Given the description of an element on the screen output the (x, y) to click on. 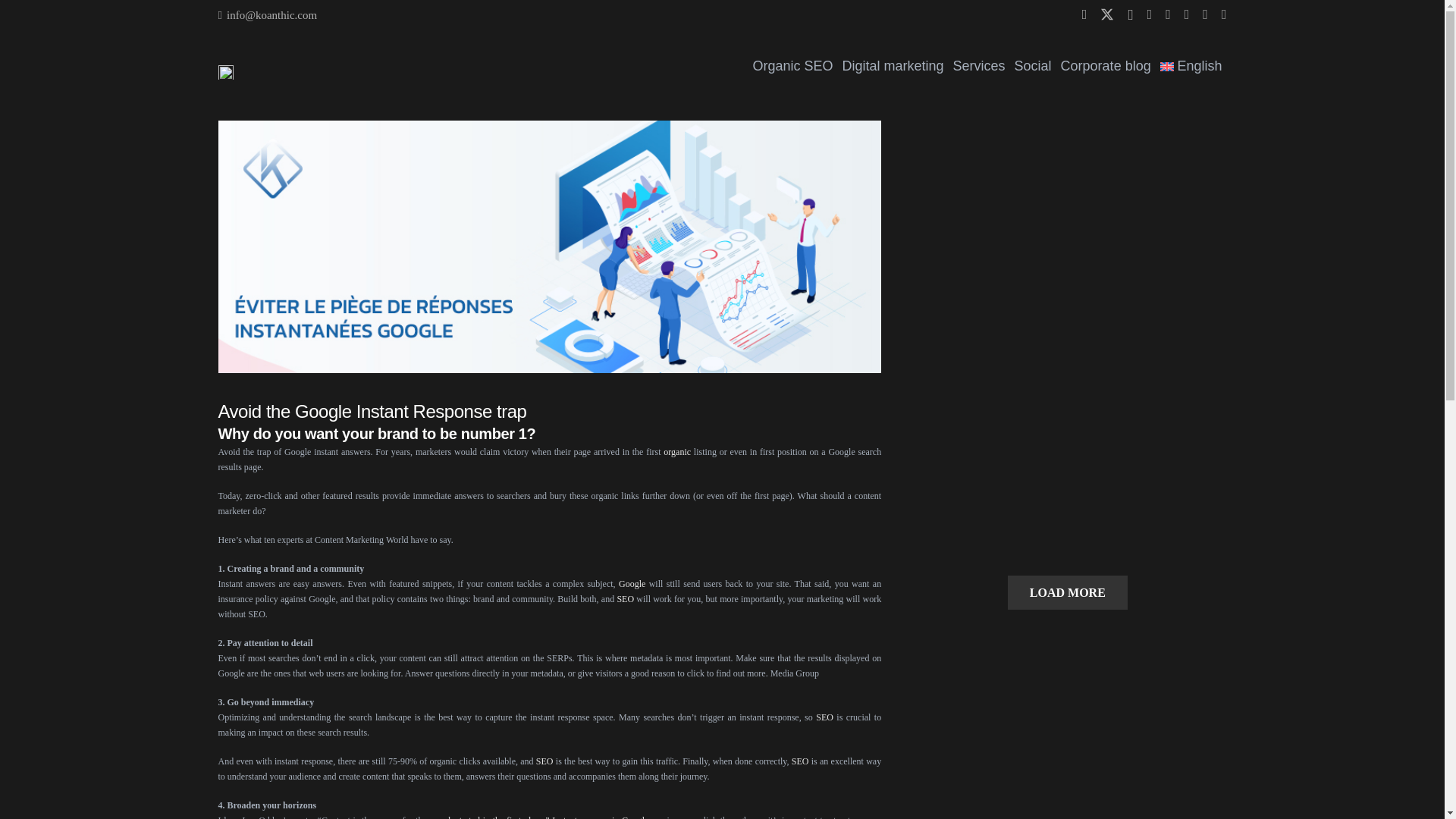
Search engine optimization maintenance (544, 760)
SEO (624, 598)
organic (676, 451)
Organic SEO (792, 66)
Corporate blog (1106, 66)
Twitter (1106, 14)
Google (631, 583)
Image referencing (800, 760)
organic (676, 451)
SEO (800, 760)
English (1191, 66)
Digital marketing (892, 66)
SEO (823, 716)
SEO (544, 760)
English (1191, 66)
